Given the description of an element on the screen output the (x, y) to click on. 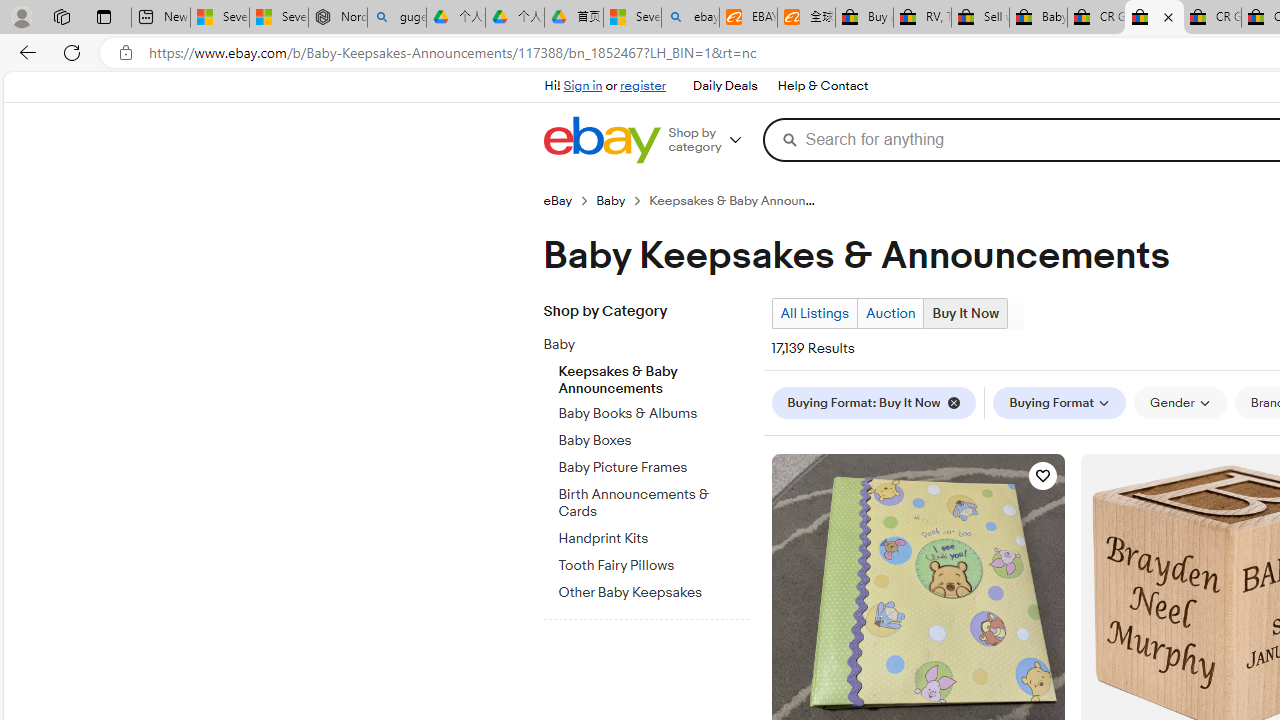
Birth Announcements & Cards (653, 500)
eBay Home (601, 139)
